Given the description of an element on the screen output the (x, y) to click on. 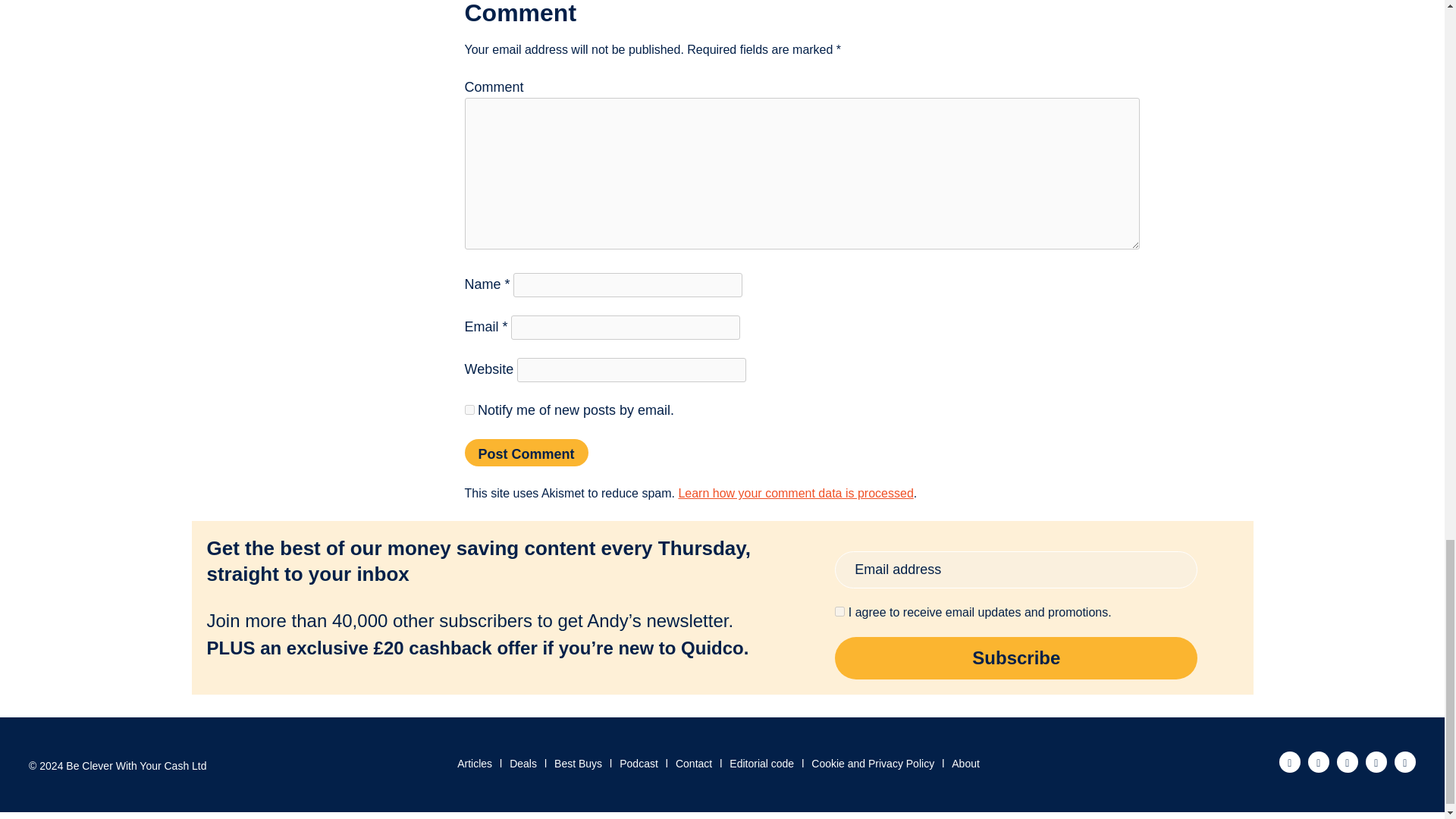
Post Comment (526, 452)
subscribe (469, 409)
on (839, 611)
Subscribe (1015, 658)
